Given the description of an element on the screen output the (x, y) to click on. 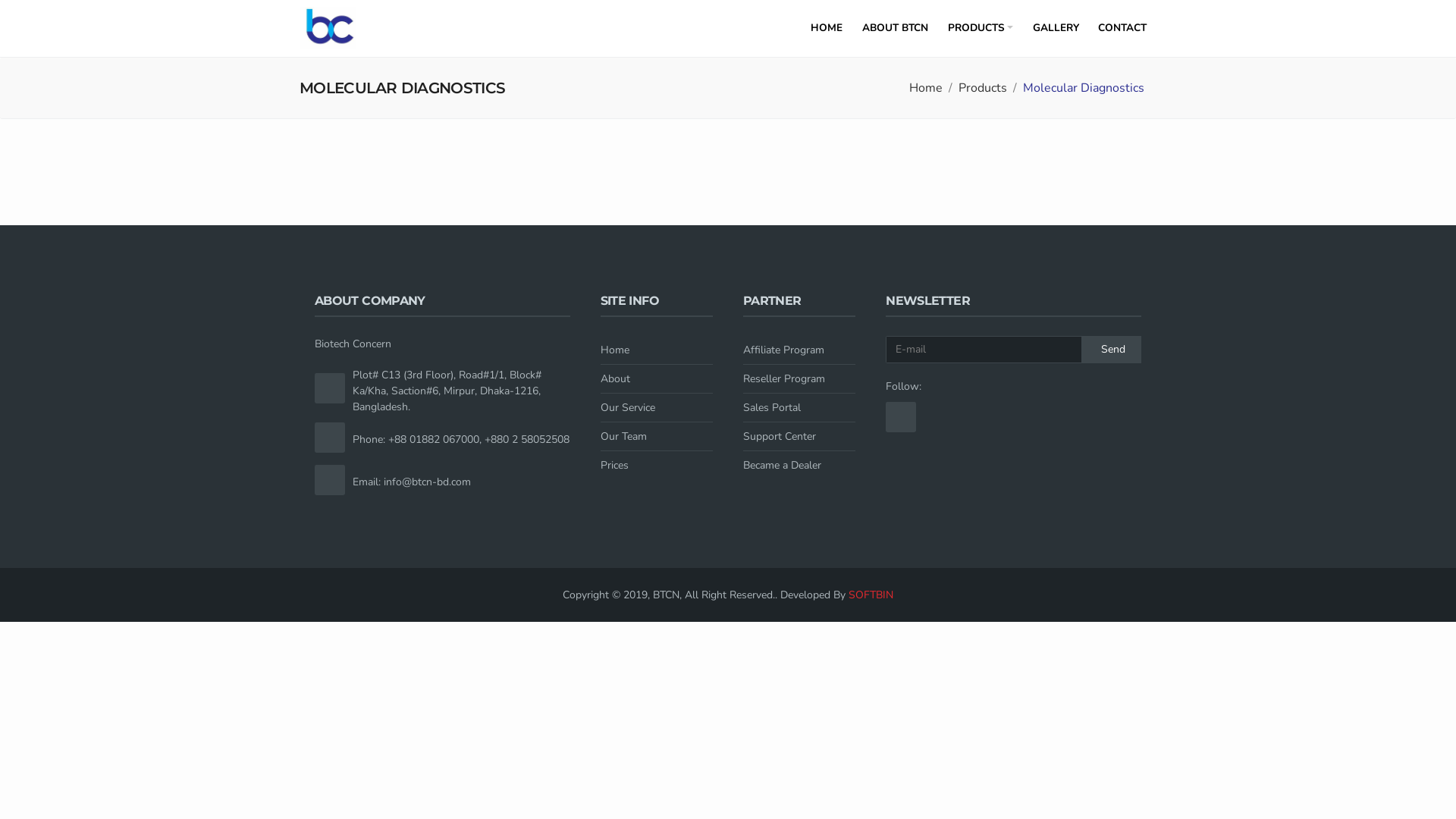
Our Service Element type: text (656, 407)
Products Element type: text (982, 87)
Home Element type: text (656, 349)
Our Team Element type: text (656, 436)
ABOUT BTCN Element type: text (895, 28)
PRODUCTS Element type: text (980, 28)
Became a Dealer Element type: text (799, 465)
HOME Element type: text (827, 28)
Reseller Program Element type: text (799, 378)
CONTACT Element type: text (1122, 28)
Email: info@btcn-bd.com Element type: text (411, 481)
Home Element type: text (925, 87)
GALLERY Element type: text (1055, 28)
Sales Portal Element type: text (799, 407)
Affiliate Program Element type: text (799, 349)
Send Element type: text (1111, 349)
SOFTBIN Element type: text (870, 594)
Phone: +88 01882 067000, +880 2 58052508 Element type: text (460, 439)
Support Center Element type: text (799, 436)
About Element type: text (656, 378)
Prices Element type: text (656, 465)
